Given the description of an element on the screen output the (x, y) to click on. 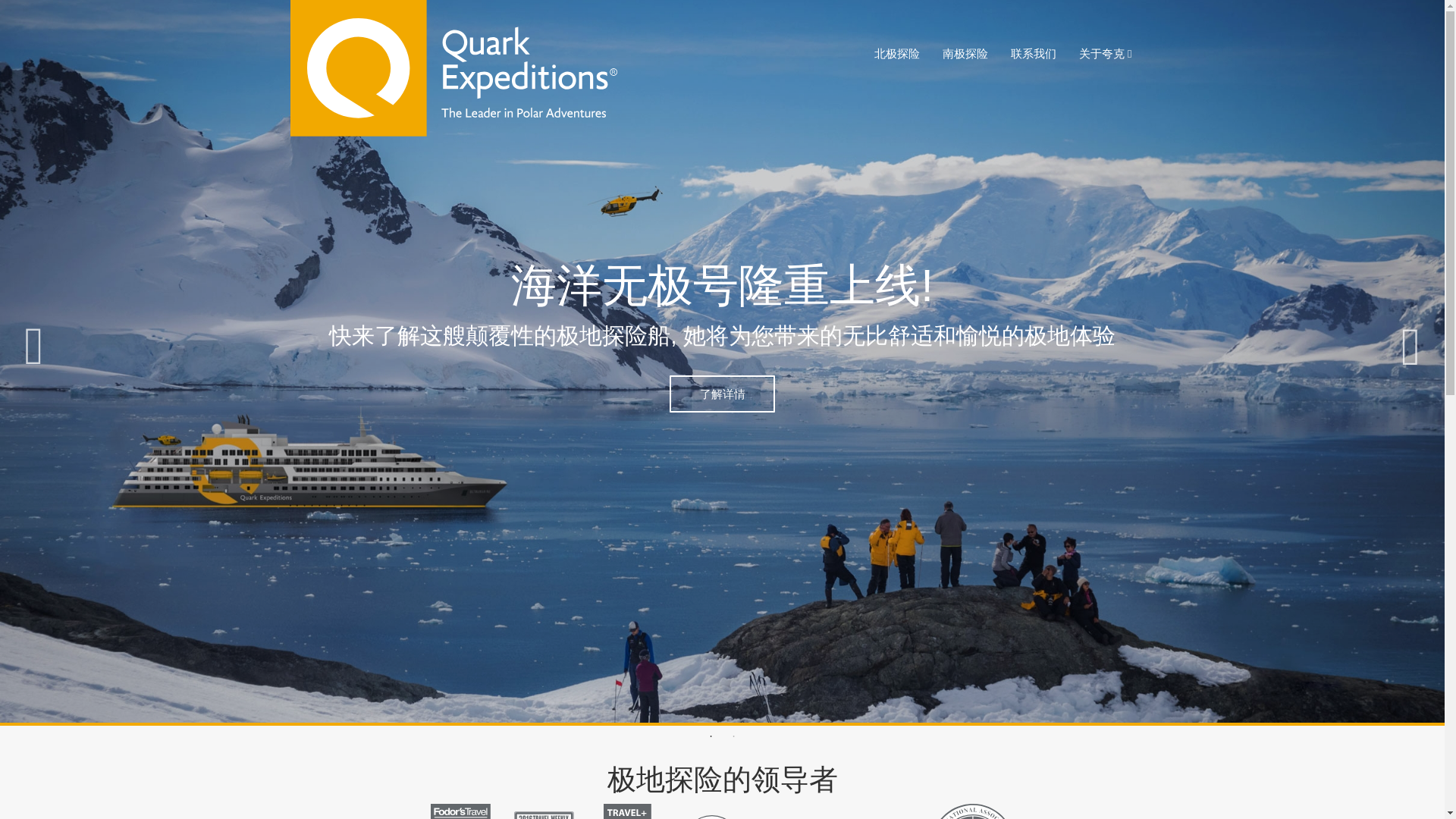
Previous (36, 348)
2 (733, 736)
1 (711, 736)
Next (1408, 348)
